Given the description of an element on the screen output the (x, y) to click on. 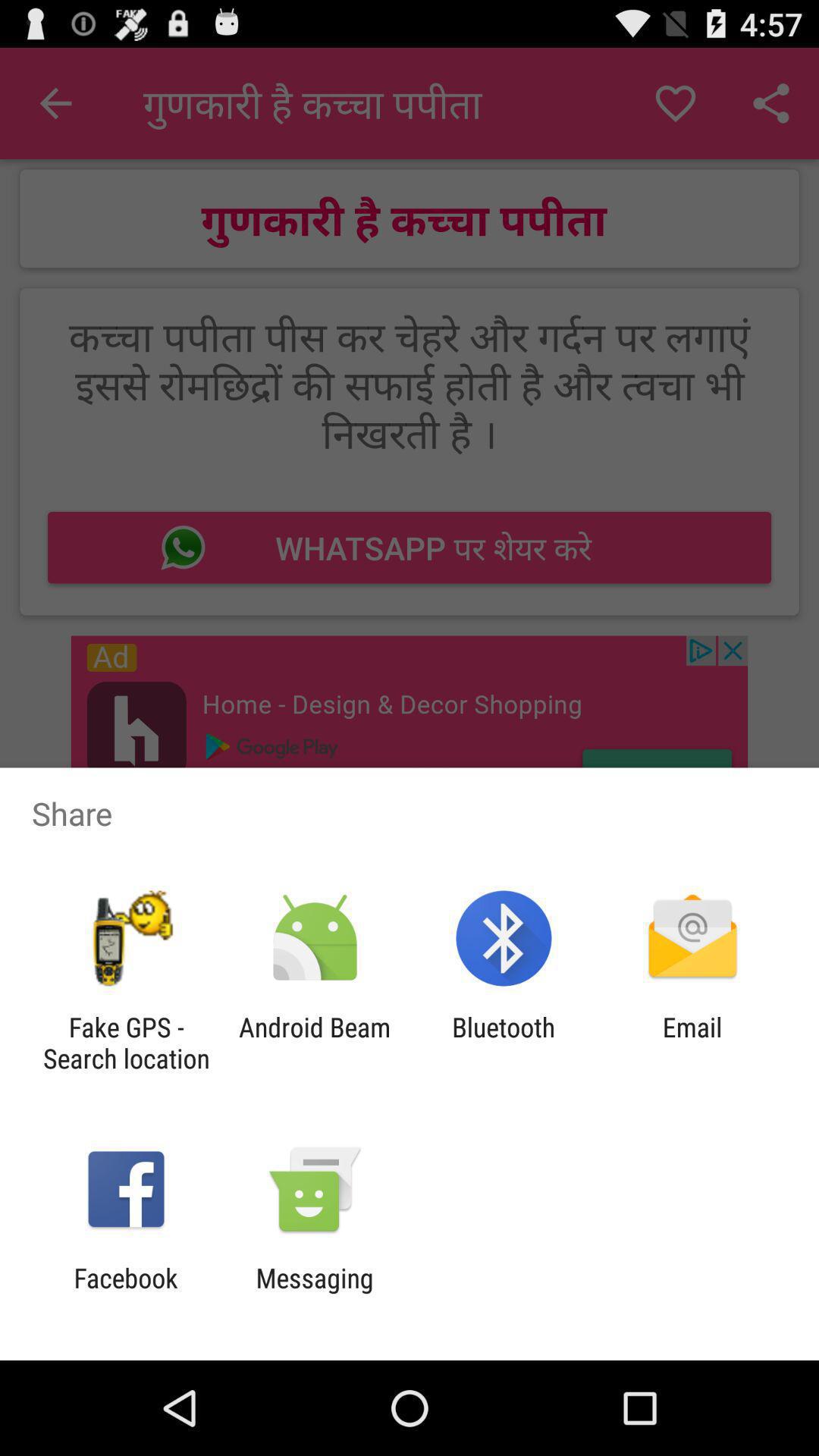
turn on the icon to the right of bluetooth icon (692, 1042)
